Given the description of an element on the screen output the (x, y) to click on. 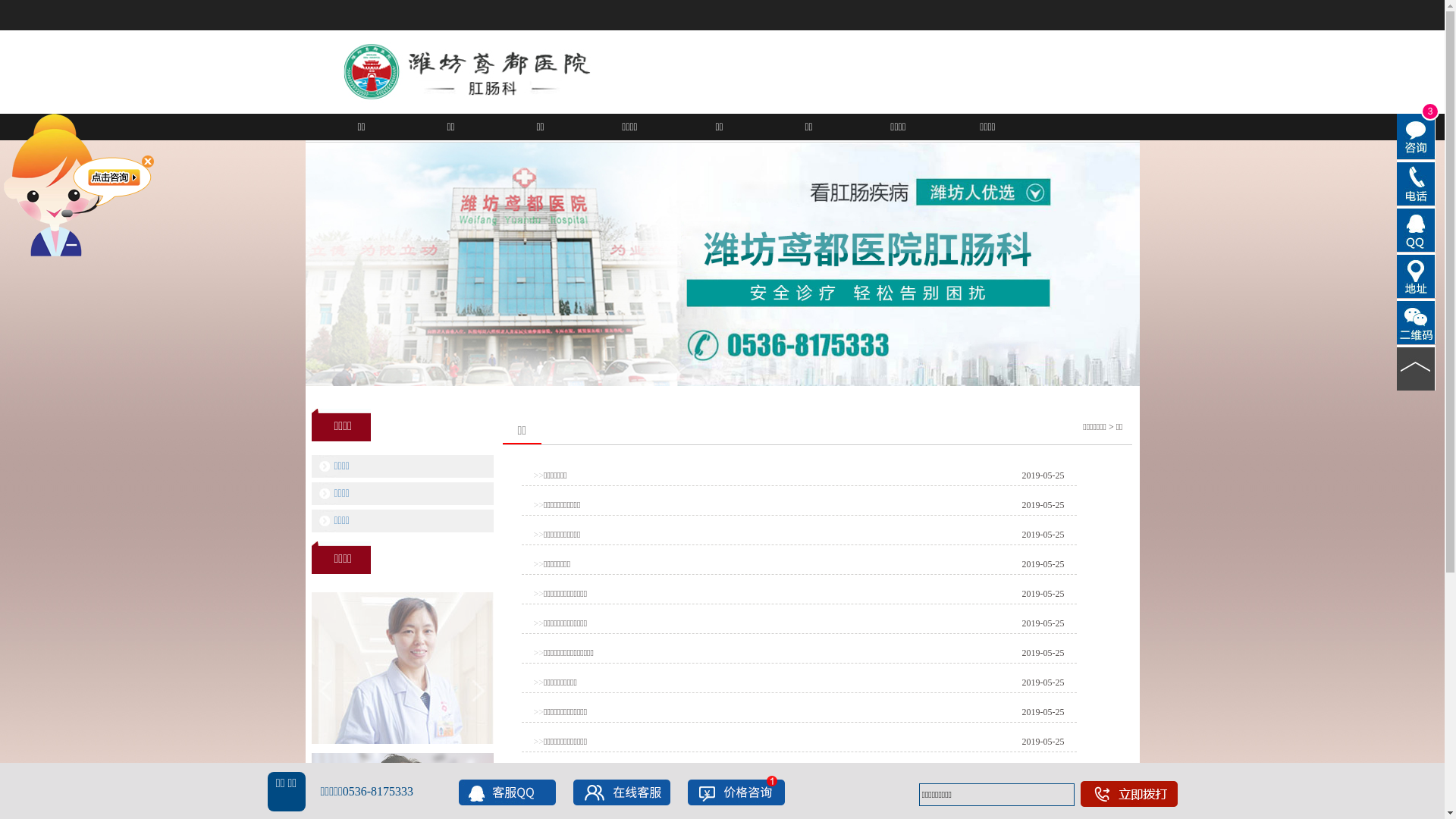
3 Element type: text (1415, 136)
